Given the description of an element on the screen output the (x, y) to click on. 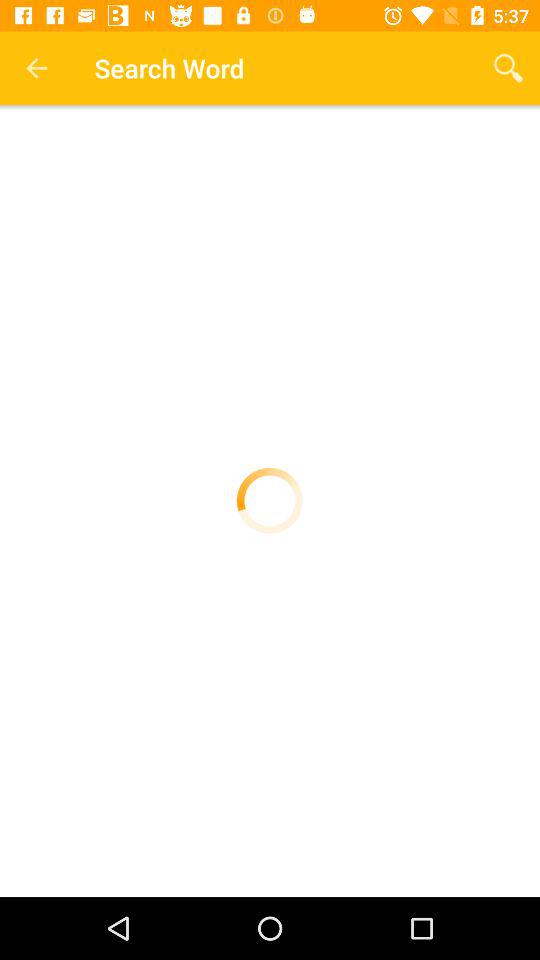
choose item to the left of search word icon (36, 68)
